Given the description of an element on the screen output the (x, y) to click on. 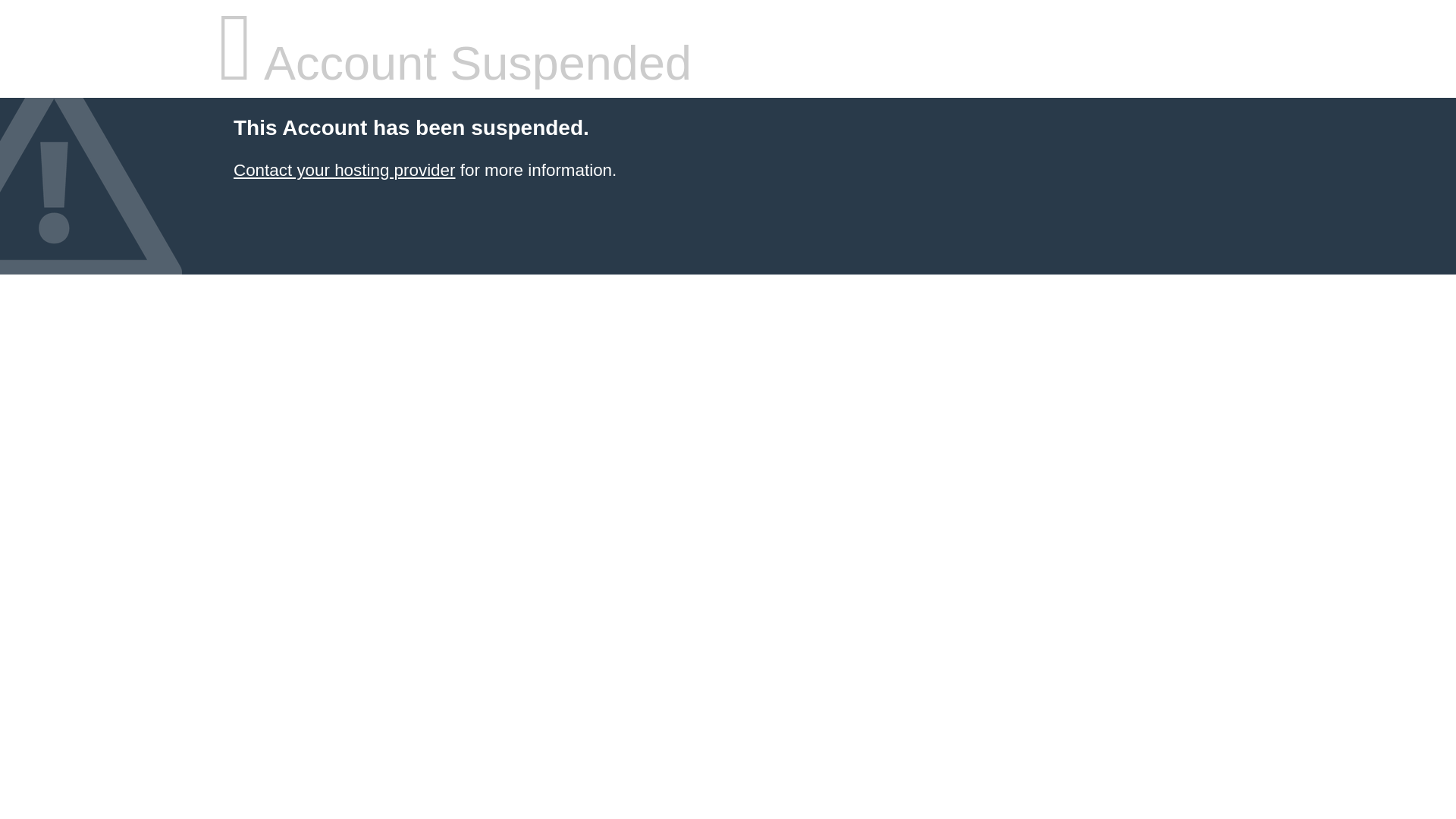
Contact your hosting provider (343, 169)
